Given the description of an element on the screen output the (x, y) to click on. 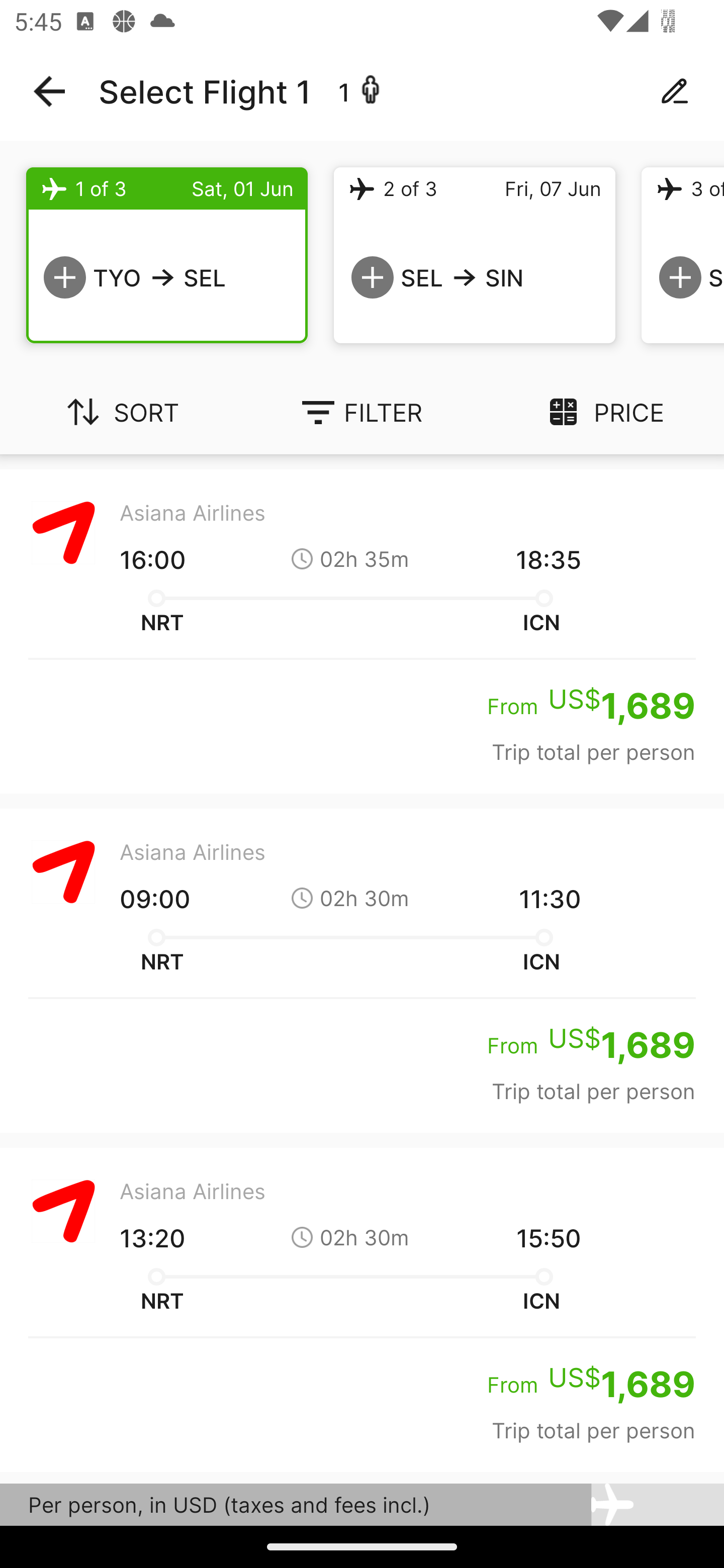
Select Flight 1   1 - (362, 91)
1 of 3 Sat, 01 Jun TYO SEL (166, 255)
2 of 3 Fri, 07 Jun SEL SIN (474, 255)
3 of 3 SIN (682, 255)
SORT (120, 412)
FILTER (361, 412)
PRICE (603, 412)
Ethiopian Airlines (362, 1498)
